Given the description of an element on the screen output the (x, y) to click on. 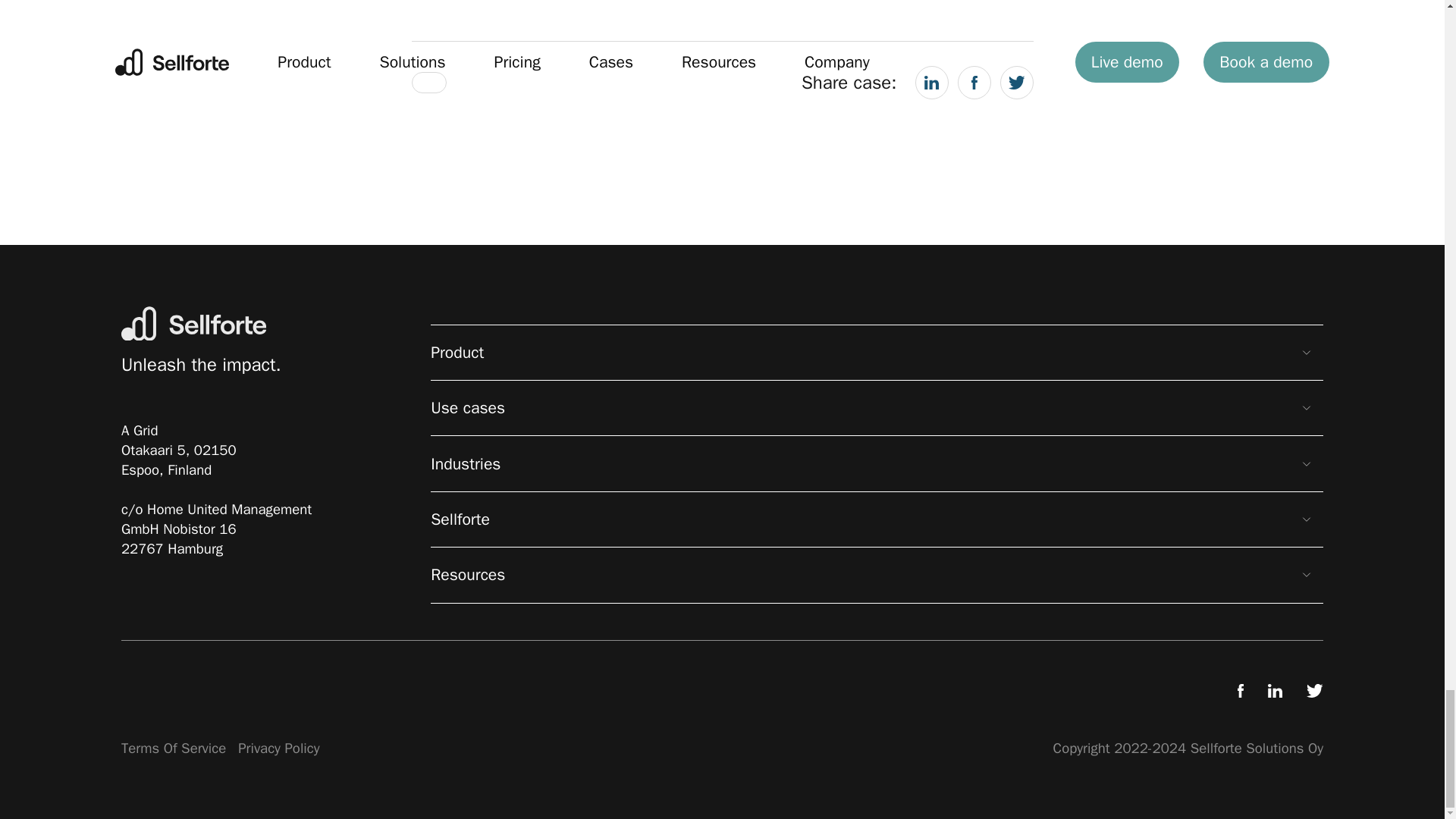
Use cases (876, 407)
Product (876, 351)
